Given the description of an element on the screen output the (x, y) to click on. 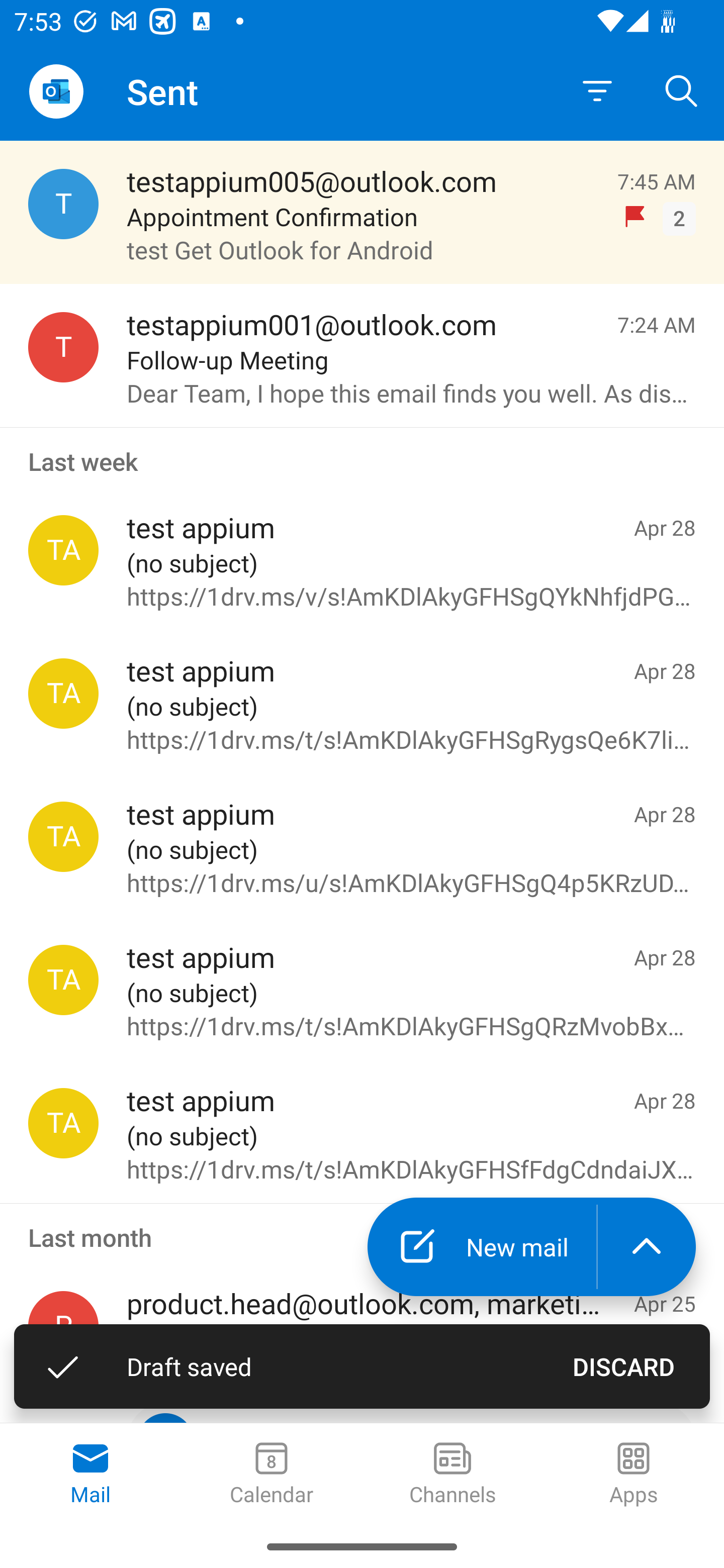
Search, ,  (681, 90)
Open Navigation Drawer (55, 91)
Filter (597, 91)
test appium, testappium002@gmail.com (63, 549)
test appium, testappium002@gmail.com (63, 693)
test appium, testappium002@gmail.com (63, 836)
test appium, testappium002@gmail.com (63, 979)
test appium, testappium002@gmail.com (63, 1123)
New mail (481, 1246)
launch the extended action menu (646, 1246)
DISCARD (623, 1366)
Calendar (271, 1474)
Channels (452, 1474)
Apps (633, 1474)
